Given the description of an element on the screen output the (x, y) to click on. 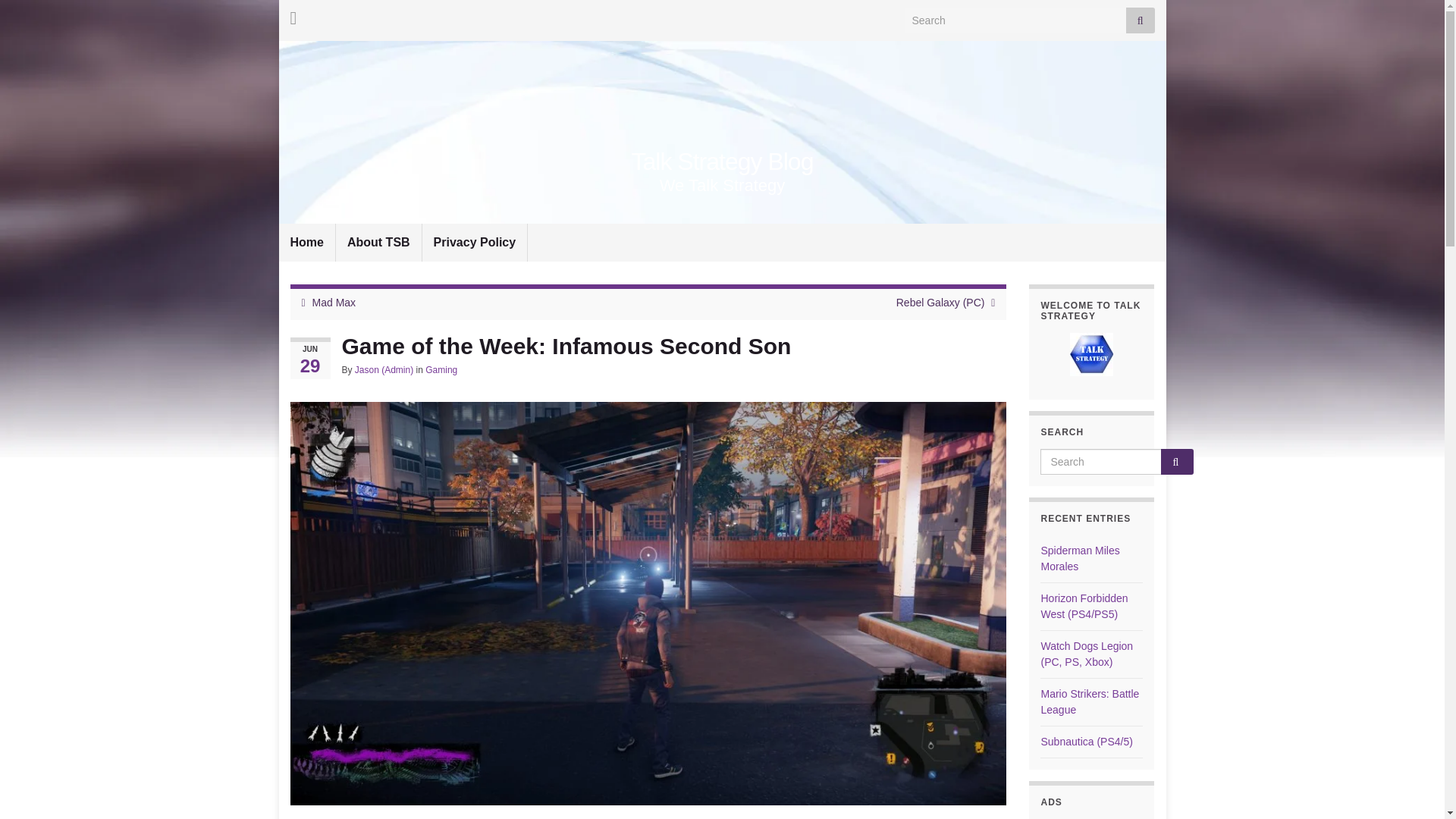
Mario Strikers: Battle League (1089, 701)
Talk Strategy Logo (1091, 353)
Privacy Policy (474, 242)
Go back to the front page (722, 161)
Home (306, 242)
Gaming (441, 369)
Talk Strategy Blog (722, 161)
Mad Max (334, 302)
About TSB (379, 242)
Spiderman Miles Morales (1080, 558)
